Given the description of an element on the screen output the (x, y) to click on. 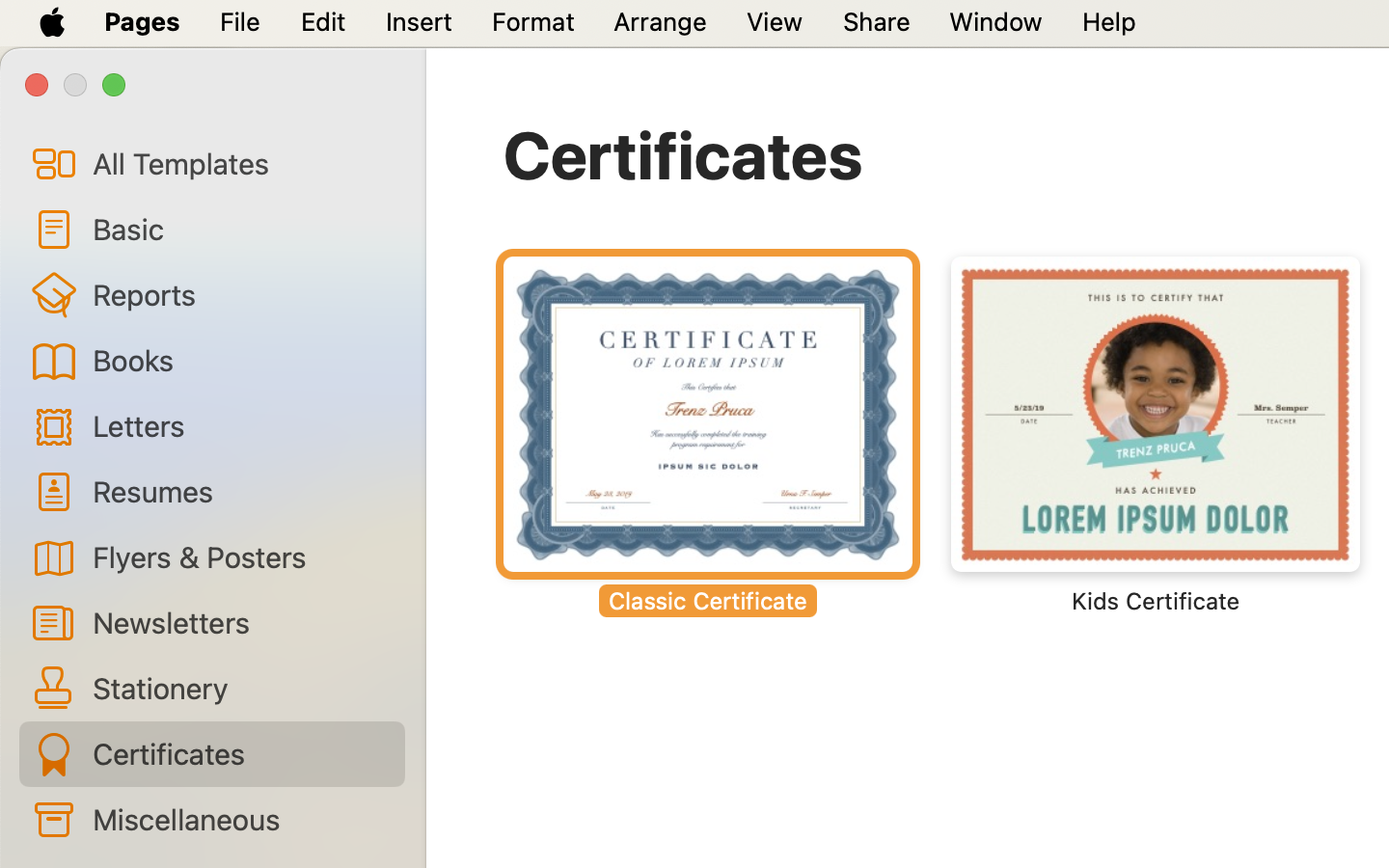
Newsletters Element type: AXStaticText (240, 621)
Flyers & Posters Element type: AXStaticText (240, 556)
Certificates Element type: AXStaticText (683, 153)
Letters Element type: AXStaticText (240, 424)
‎⁨Classic Certificate⁩ Element type: AXButton (707, 435)
